Given the description of an element on the screen output the (x, y) to click on. 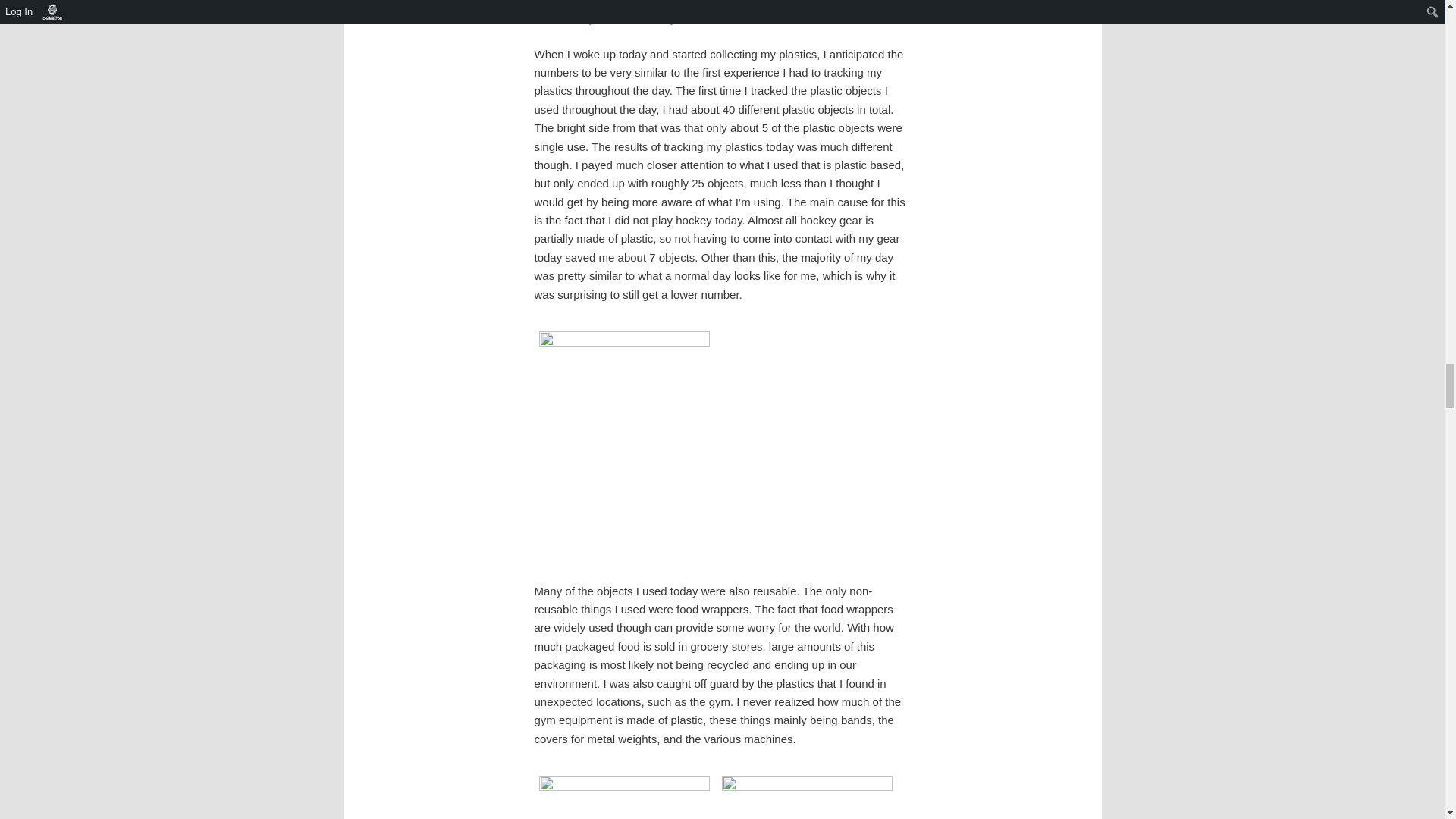
Plastic All Around (617, 2)
nathandawes (706, 19)
9:09 pm (620, 19)
View all posts by nathandawes (706, 19)
Permalink to Plastic All Around (617, 2)
September 17, 2021 (620, 19)
